Given the description of an element on the screen output the (x, y) to click on. 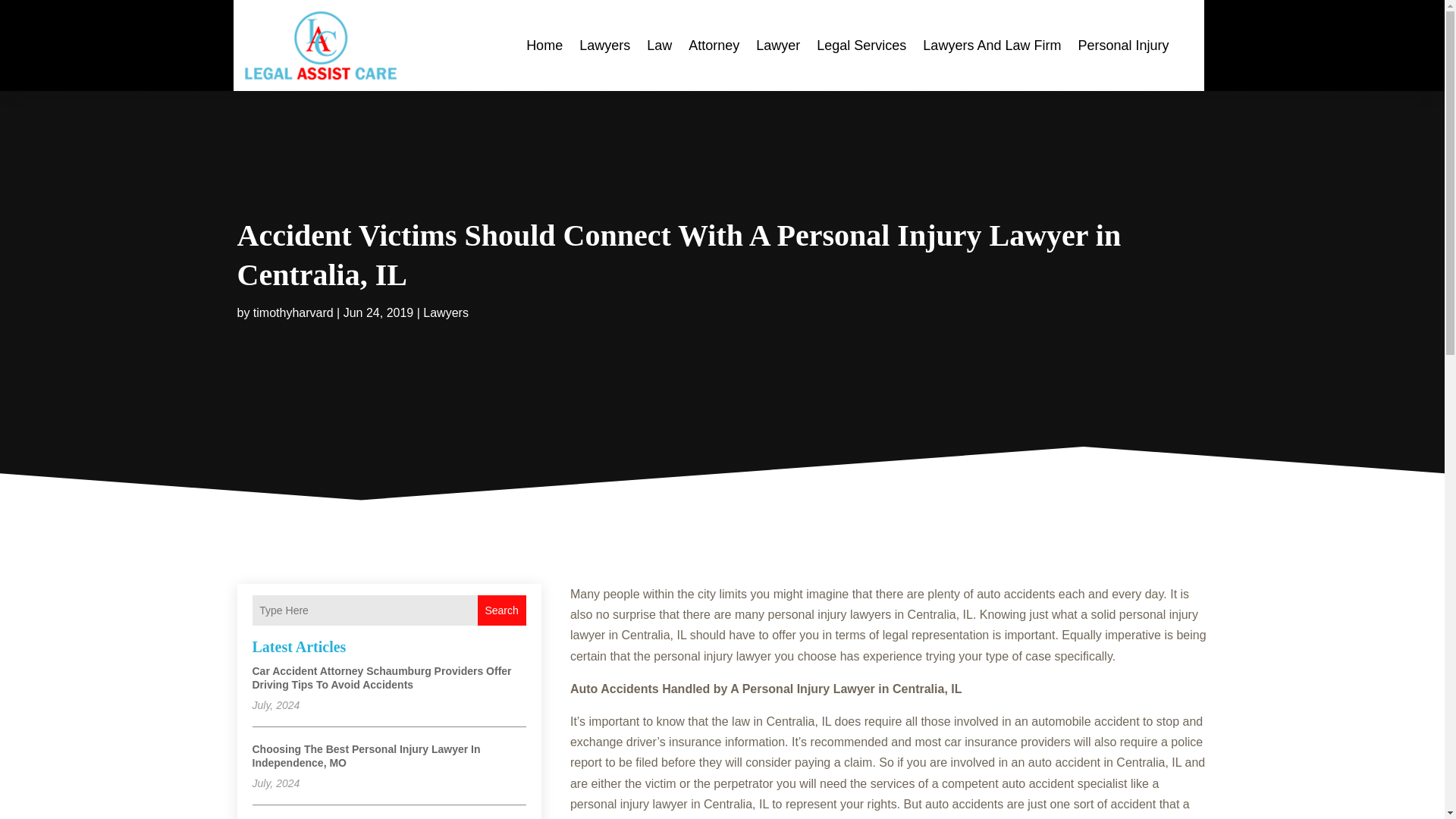
Lawyers (445, 312)
Law (658, 45)
Posts by timothyharvard (293, 312)
Attorney (713, 45)
Lawyers And Law Firm (992, 45)
timothyharvard (293, 312)
Legal Services (860, 45)
Home (543, 45)
Search (501, 610)
Choosing The Best Personal Injury Lawyer In Independence, MO (365, 755)
Lawyer (777, 45)
Personal Injury (1123, 45)
Lawyers (604, 45)
